Given the description of an element on the screen output the (x, y) to click on. 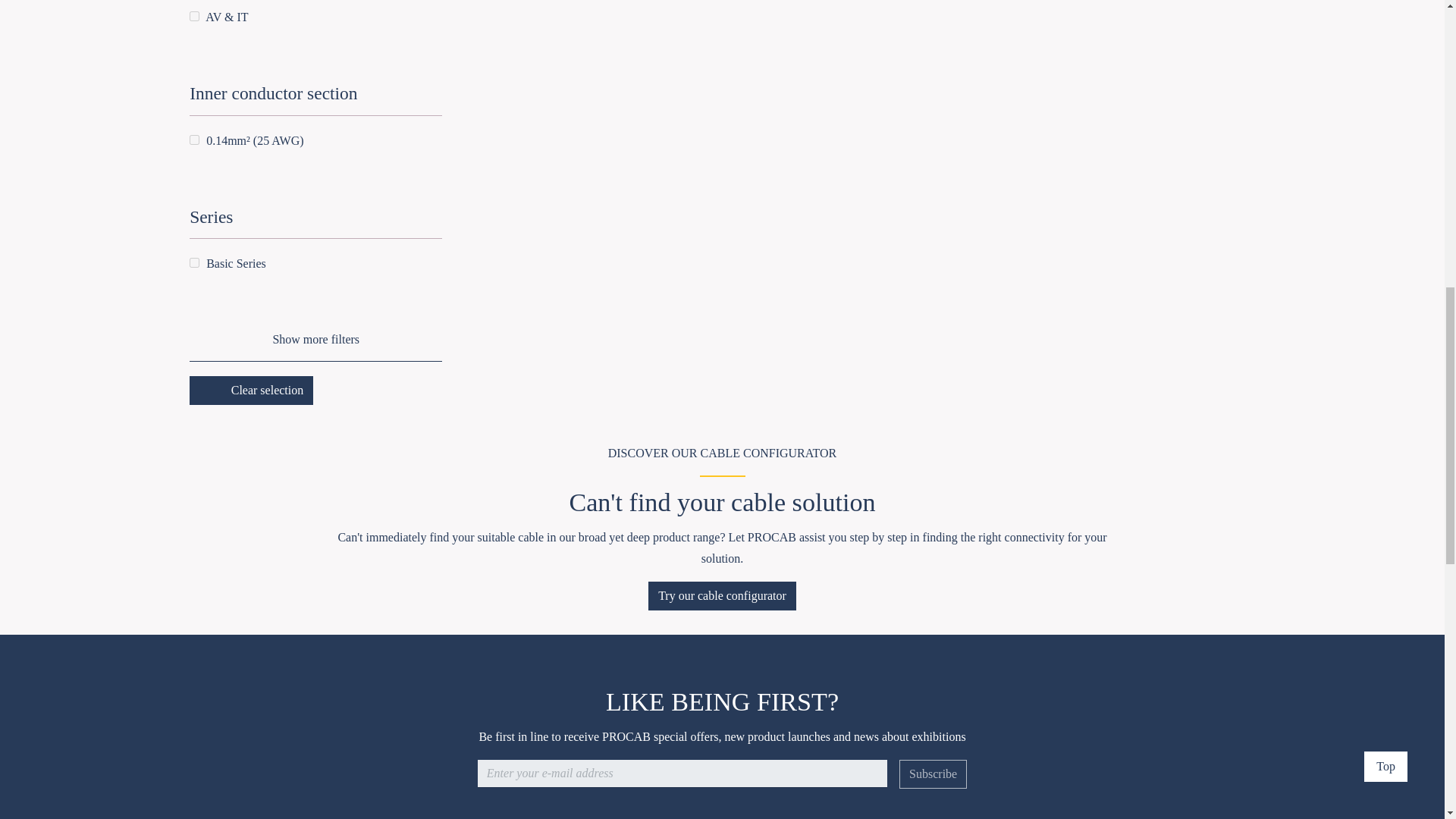
on (194, 262)
trashcan (215, 390)
Subscribe (932, 774)
on (194, 16)
on (194, 139)
